Given the description of an element on the screen output the (x, y) to click on. 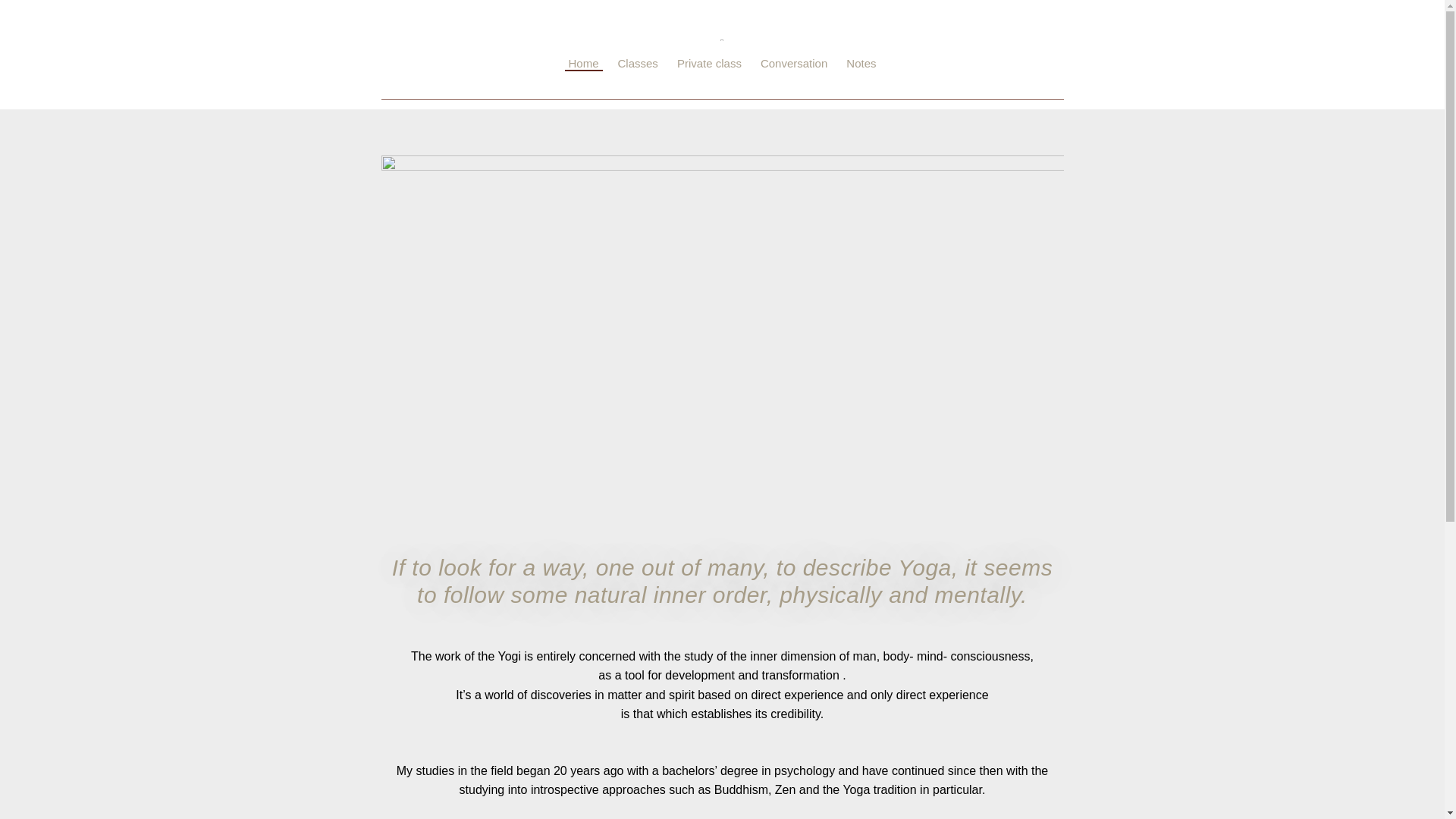
Classes (638, 63)
Notes (861, 63)
Conversation (794, 63)
Private class (708, 63)
Home (583, 63)
